Given the description of an element on the screen output the (x, y) to click on. 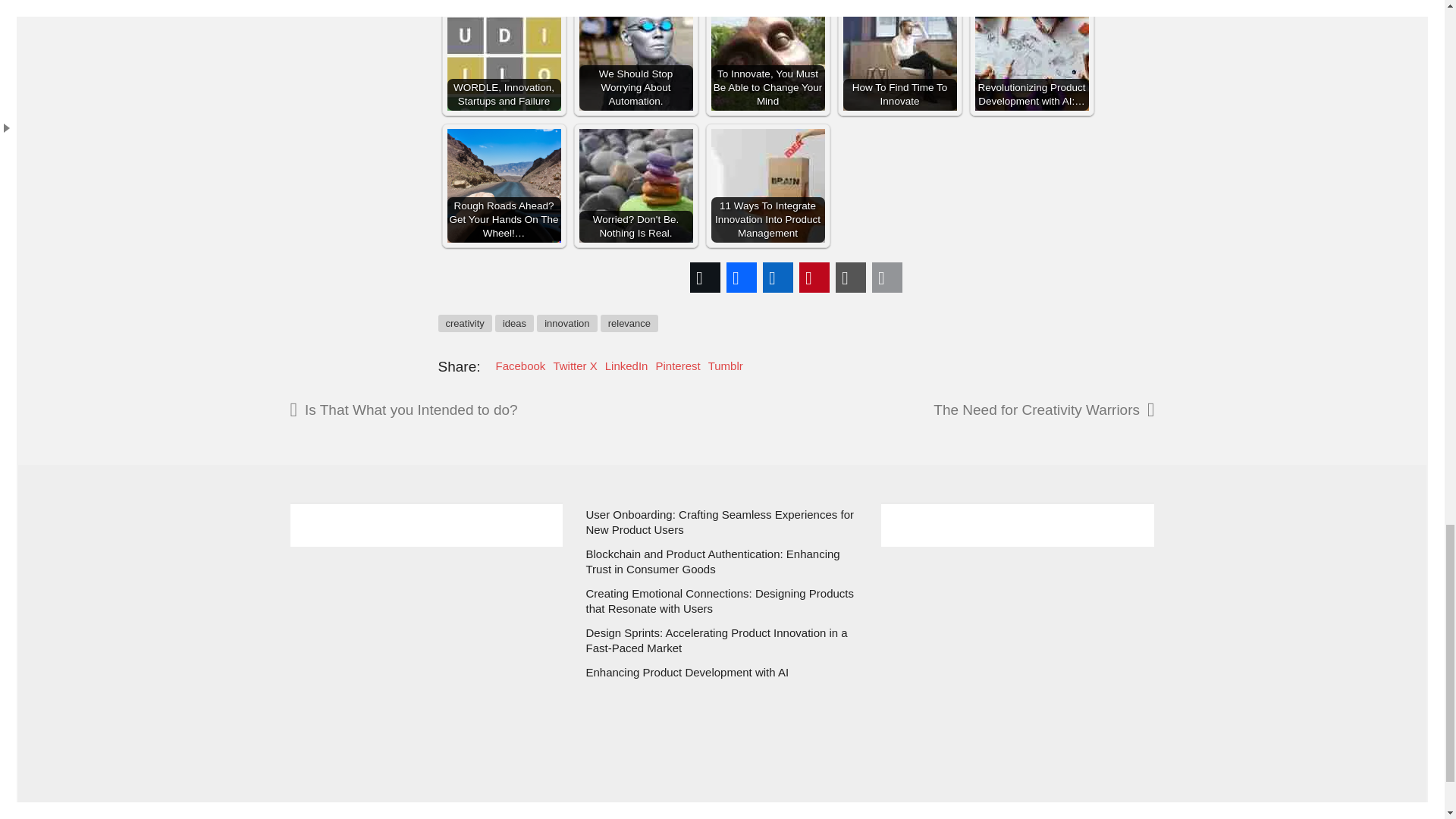
Copy Link (850, 277)
Form 1 (425, 647)
Email This (887, 277)
To Innovate, You Must Be Able to Change Your Mind (768, 55)
Facebook (741, 277)
LinkedIn (778, 277)
We Should Stop Worrying About Automation. (636, 55)
Pinterest (814, 277)
How To Find Time To Innovate (899, 55)
